Given the description of an element on the screen output the (x, y) to click on. 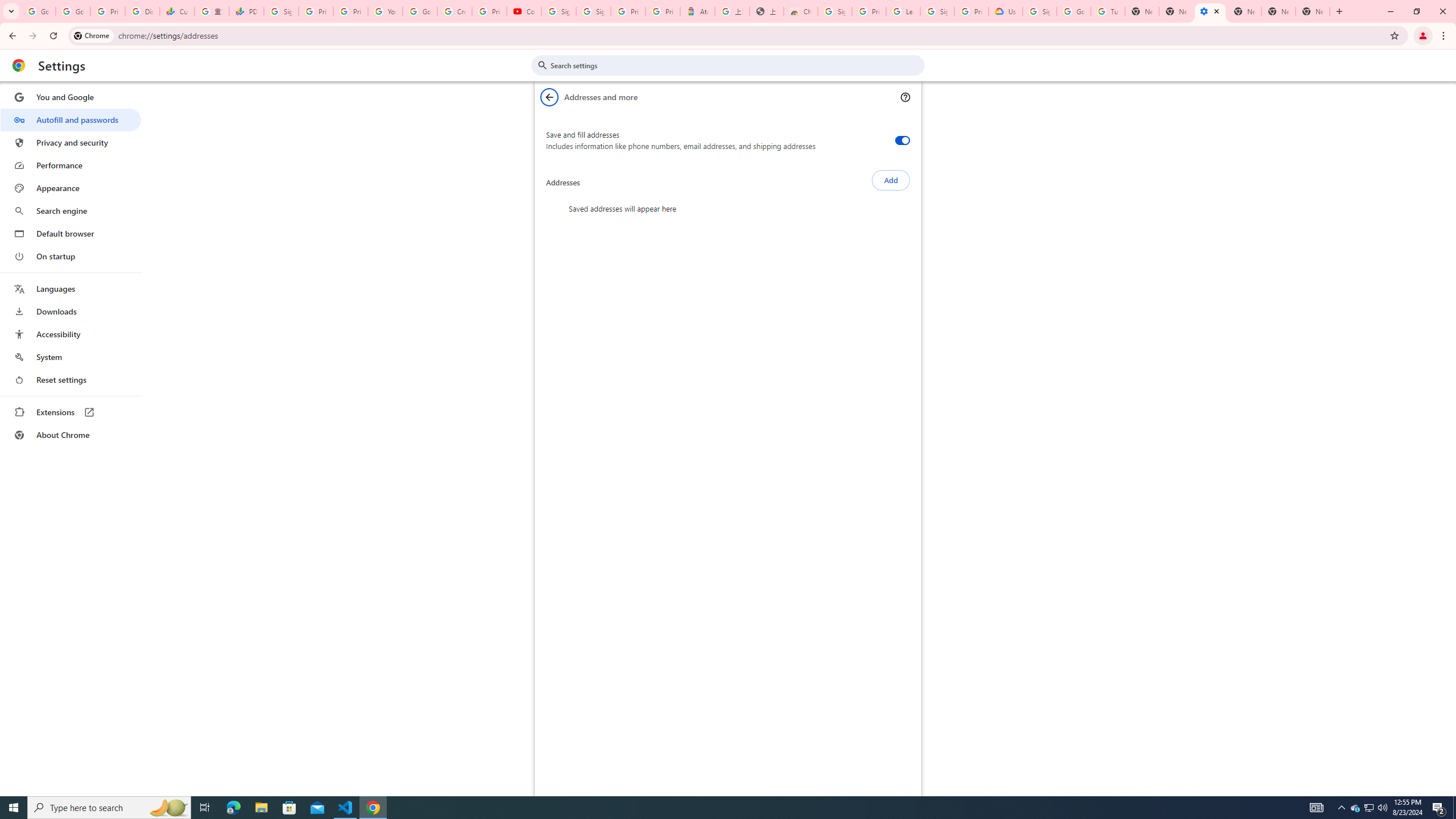
About Chrome (70, 434)
Privacy and security (70, 142)
Currencies - Google Finance (176, 11)
Default browser (70, 233)
PDD Holdings Inc - ADR (PDD) Price & News - Google Finance (246, 11)
